Given the description of an element on the screen output the (x, y) to click on. 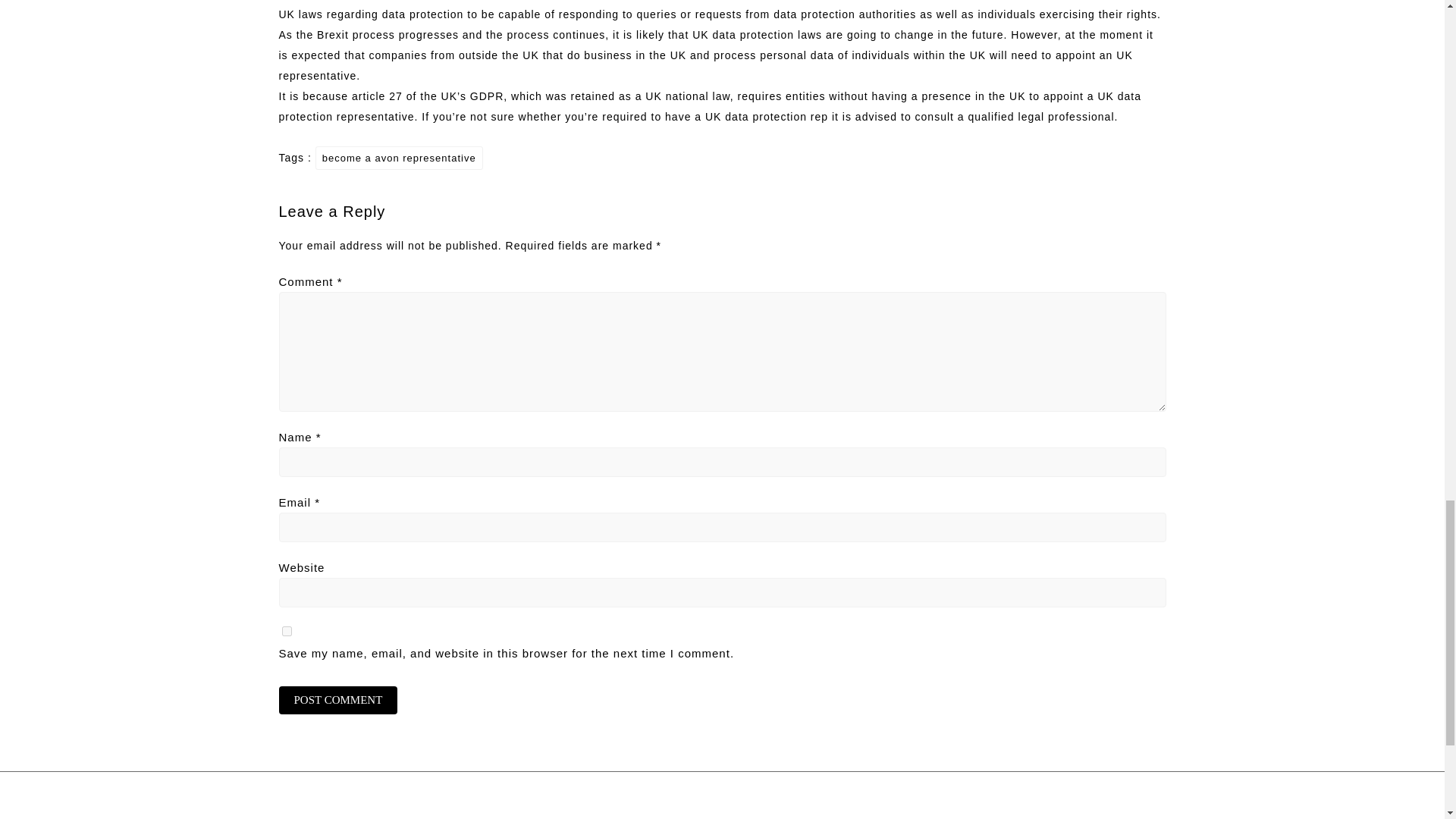
yes (287, 631)
Post Comment (338, 700)
